Given the description of an element on the screen output the (x, y) to click on. 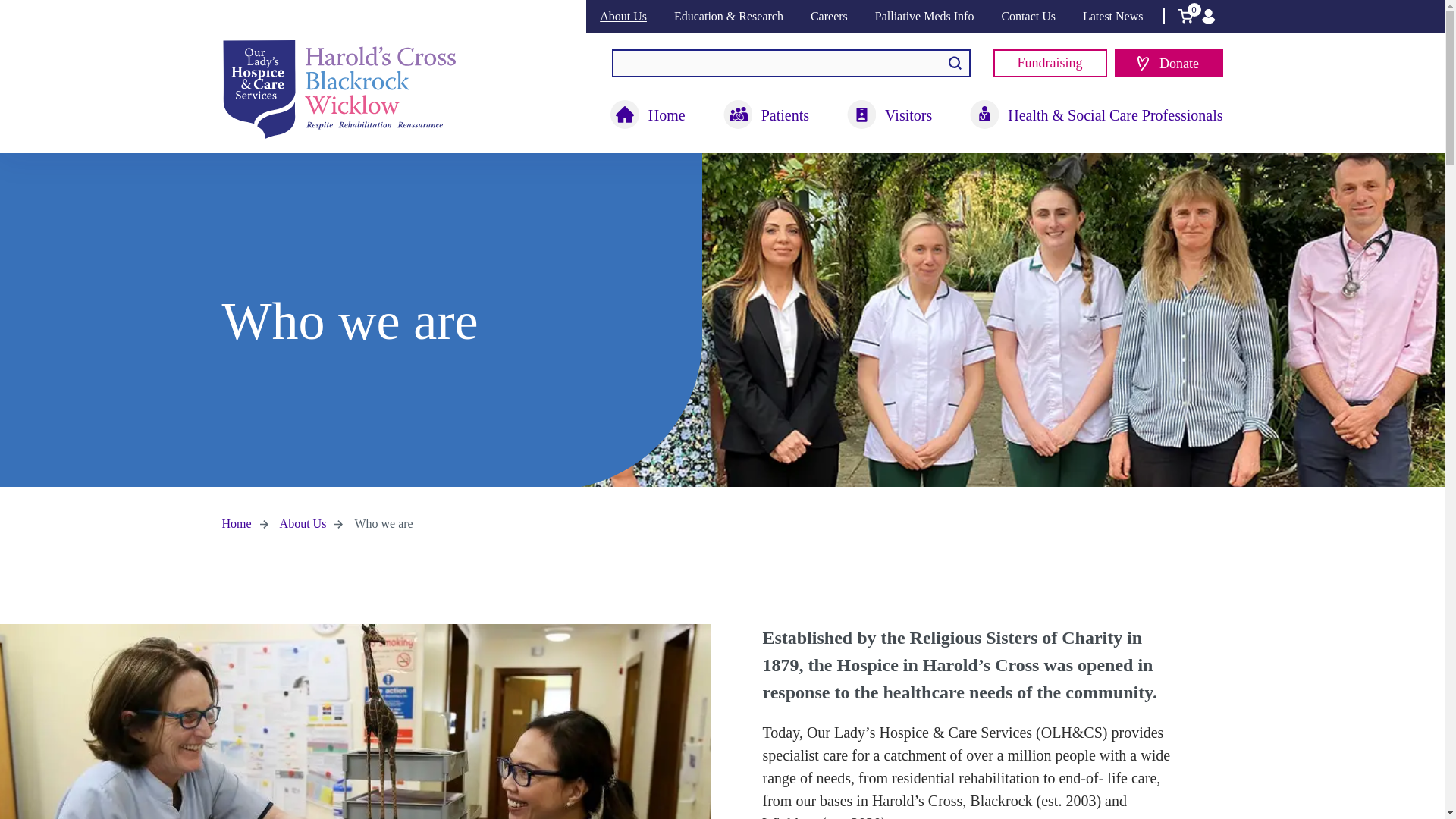
About Us (622, 15)
Home (647, 115)
Visitors (889, 115)
Search (953, 63)
Contact Us (1028, 15)
Palliative Meds Info (924, 15)
0 (1184, 16)
Donate (1169, 62)
Home (647, 115)
Careers (828, 15)
